Given the description of an element on the screen output the (x, y) to click on. 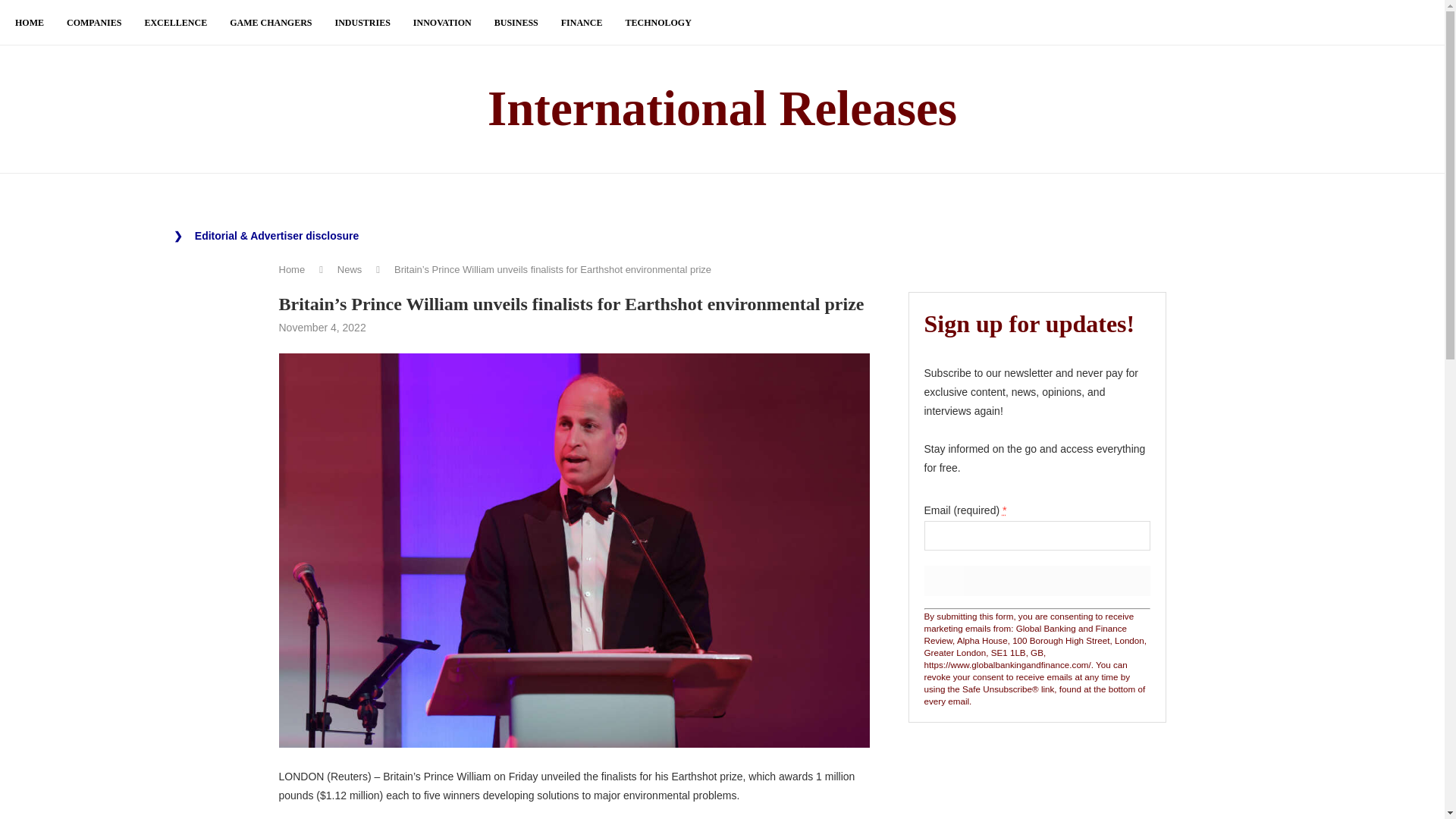
TECHNOLOGY (657, 22)
BUSINESS (516, 22)
Home (292, 269)
COMPANIES (93, 22)
EXCELLENCE (175, 22)
International Releases (721, 109)
INDUSTRIES (362, 22)
GAME CHANGERS (270, 22)
News (349, 269)
FINANCE (581, 22)
INNOVATION (442, 22)
Sign up! (1036, 581)
Sign up! (1036, 581)
